Given the description of an element on the screen output the (x, y) to click on. 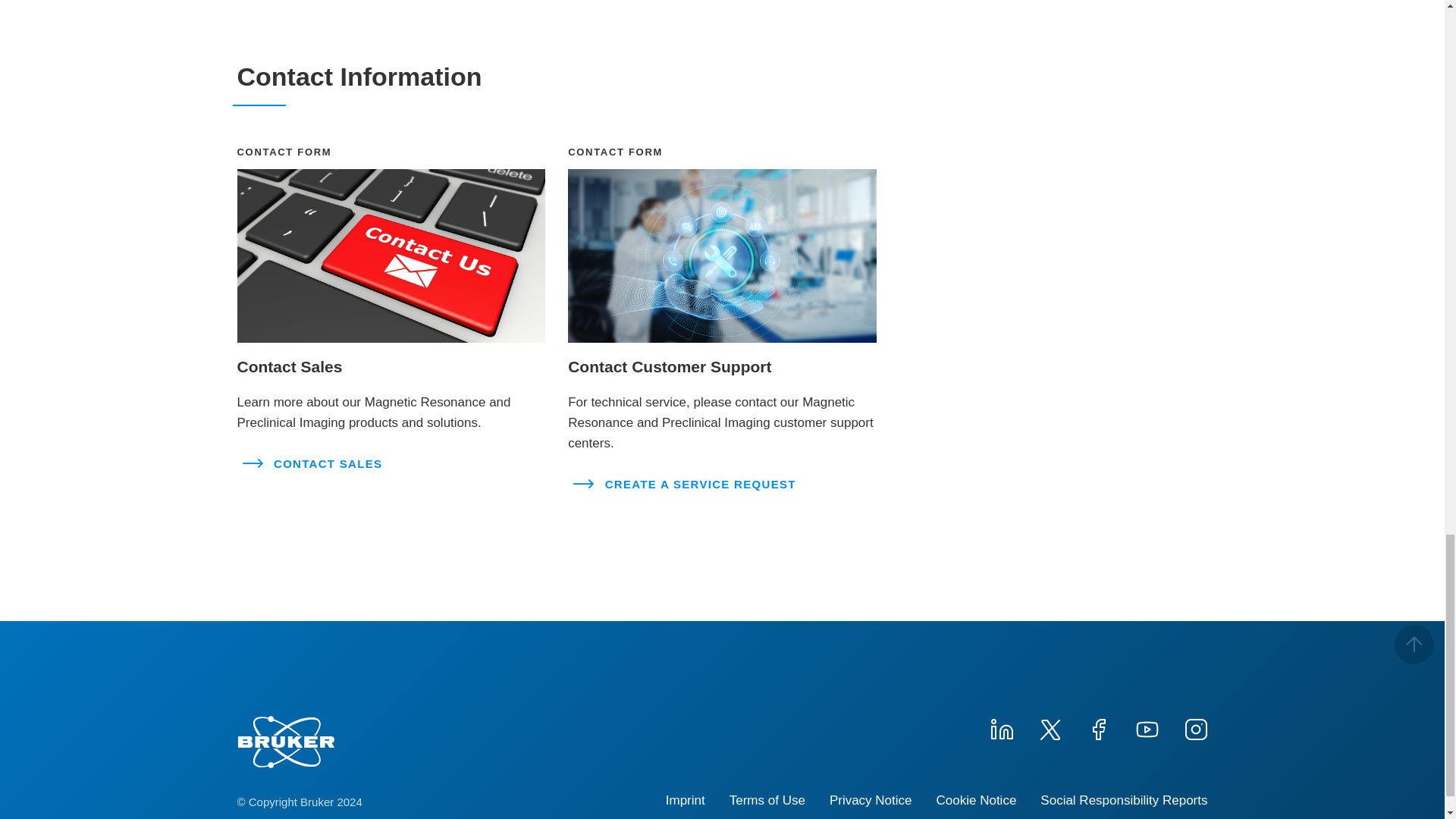
linkedin (1000, 727)
facebook (1097, 727)
youtube (1146, 727)
twitter (1048, 727)
instagram (1194, 727)
